Given the description of an element on the screen output the (x, y) to click on. 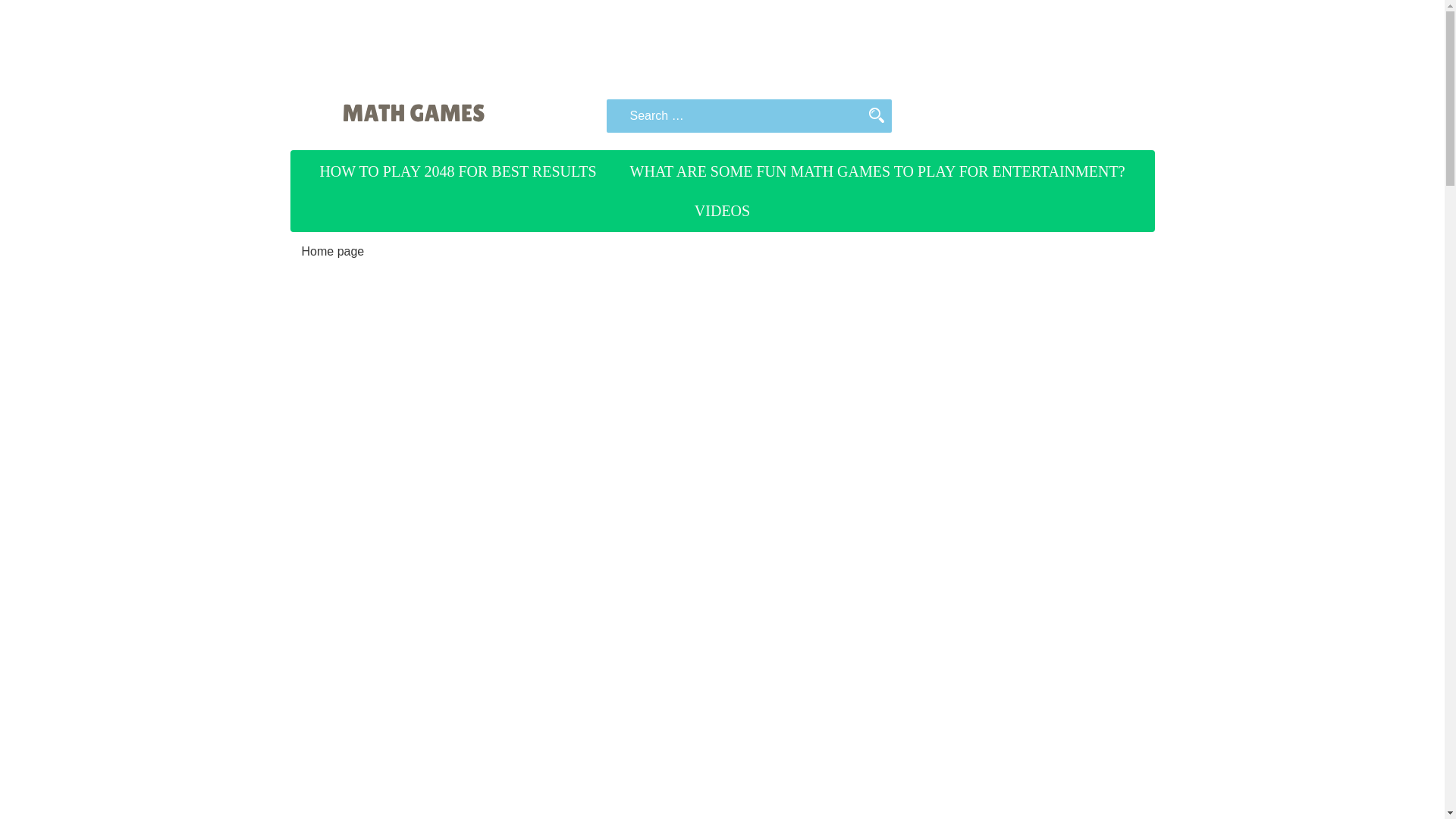
WHAT ARE SOME FUN MATH GAMES TO PLAY FOR ENTERTAINMENT? (877, 170)
HOW TO PLAY 2048 FOR BEST RESULTS (457, 170)
Home page (333, 250)
VIDEOS (721, 210)
